Given the description of an element on the screen output the (x, y) to click on. 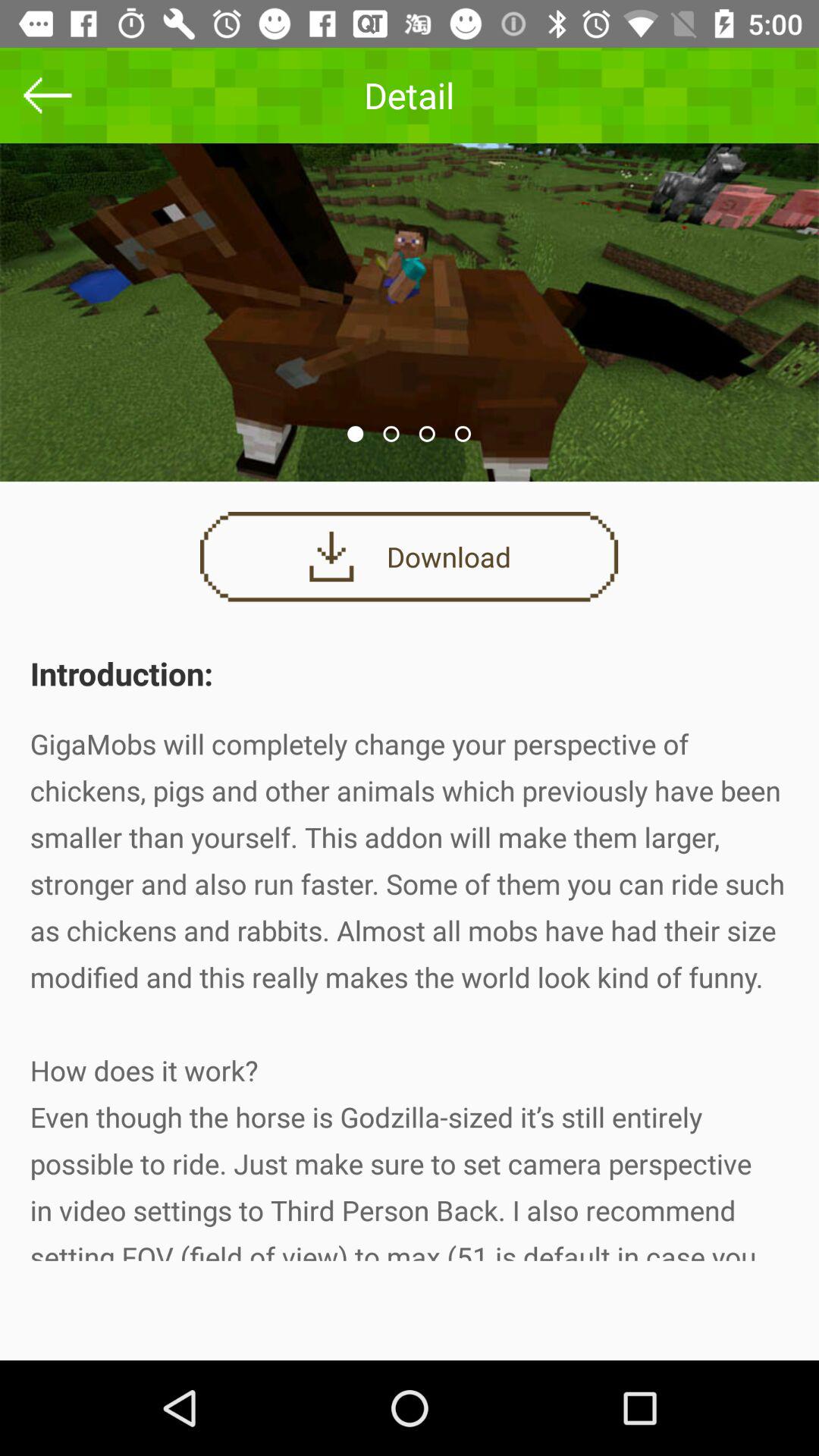
go back (47, 95)
